Given the description of an element on the screen output the (x, y) to click on. 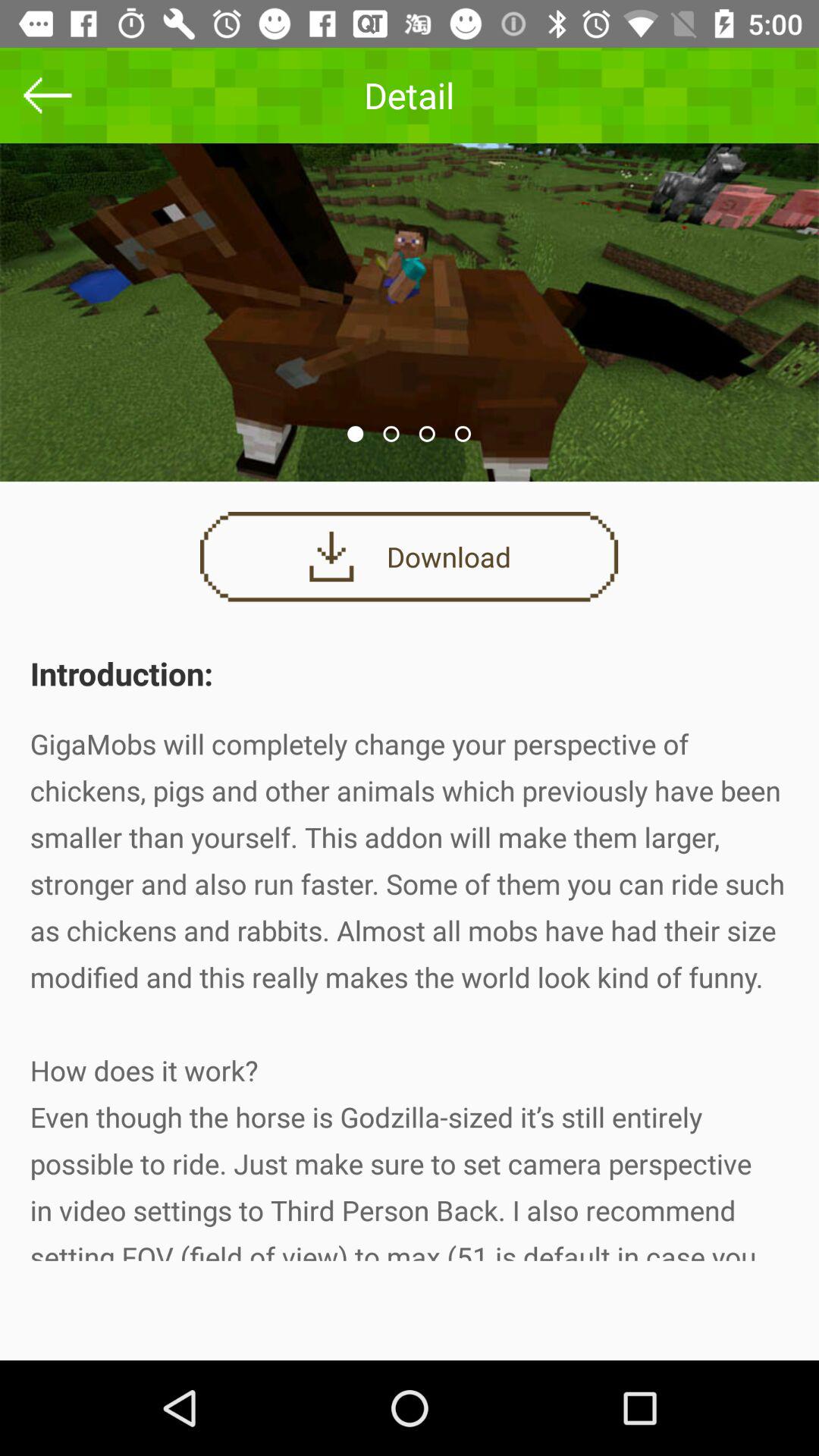
go back (47, 95)
